Given the description of an element on the screen output the (x, y) to click on. 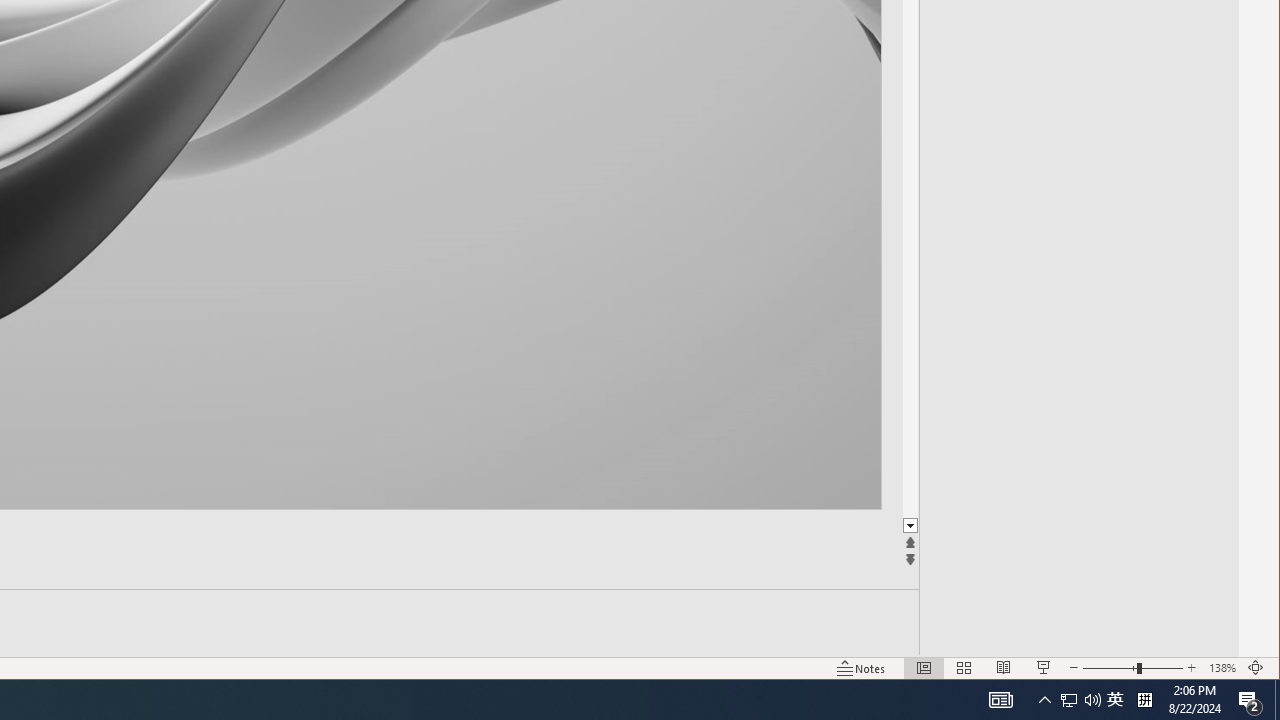
Q2790: 100% (1092, 699)
Zoom to Fit  (1256, 668)
User Promoted Notification Area (1080, 699)
Action Center, 2 new notifications (1250, 699)
Slide Sorter (964, 668)
Normal (923, 668)
